Given the description of an element on the screen output the (x, y) to click on. 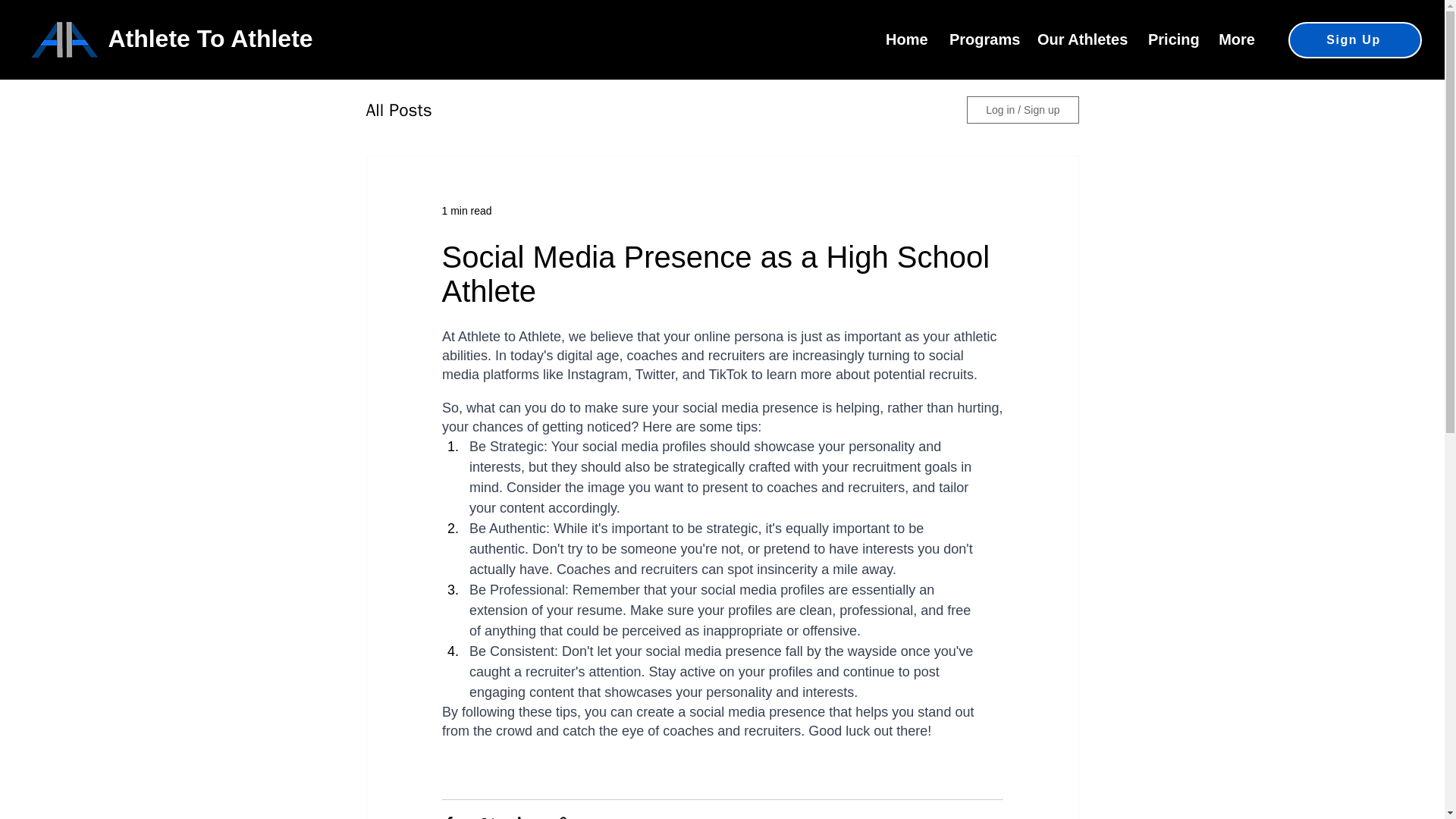
1 min read (466, 210)
Sign Up (1355, 40)
All Posts (397, 110)
Our Athletes (1081, 39)
Pricing (1172, 39)
Home (906, 39)
Programs (981, 39)
